Given the description of an element on the screen output the (x, y) to click on. 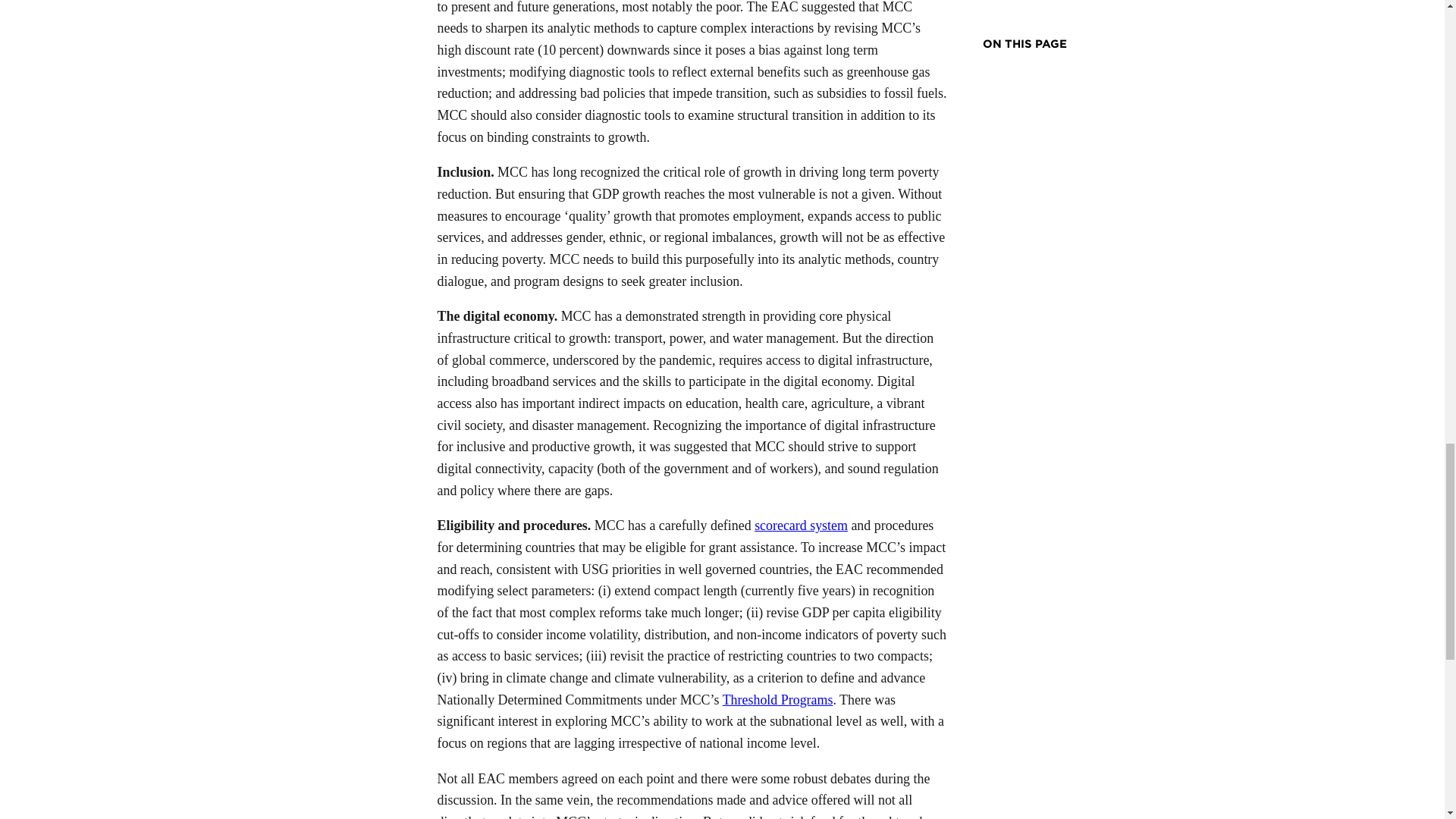
scorecard system (800, 525)
Threshold Programs (777, 699)
